Given the description of an element on the screen output the (x, y) to click on. 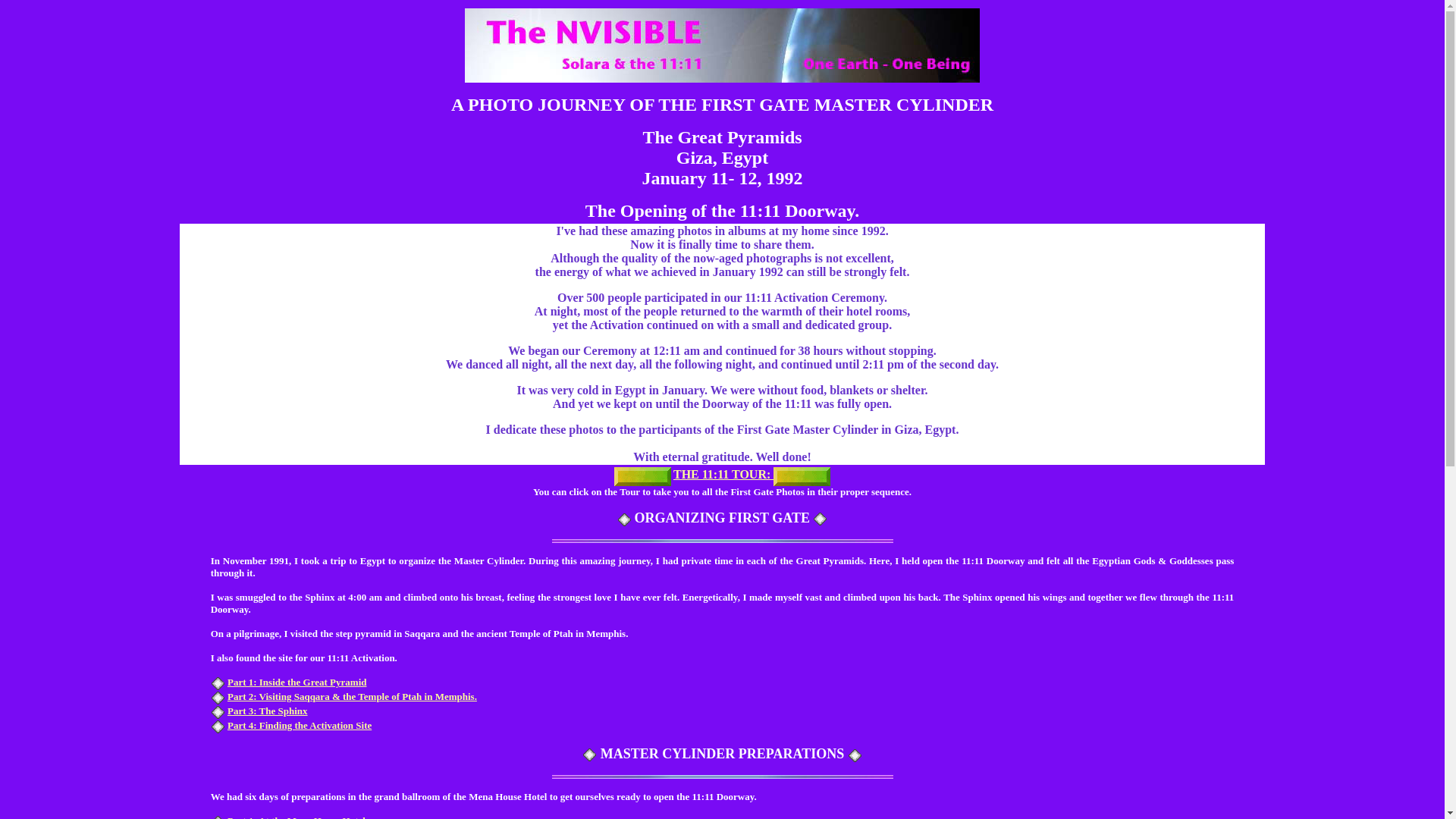
Part 3: The Sphinx (267, 710)
Part 1: At the Mena House Hotel (296, 816)
Part 1: Inside the Great Pyramid (296, 681)
Part 4: Finding the Activation Site (299, 725)
THE 11:11 TOUR: (722, 474)
